Given the description of an element on the screen output the (x, y) to click on. 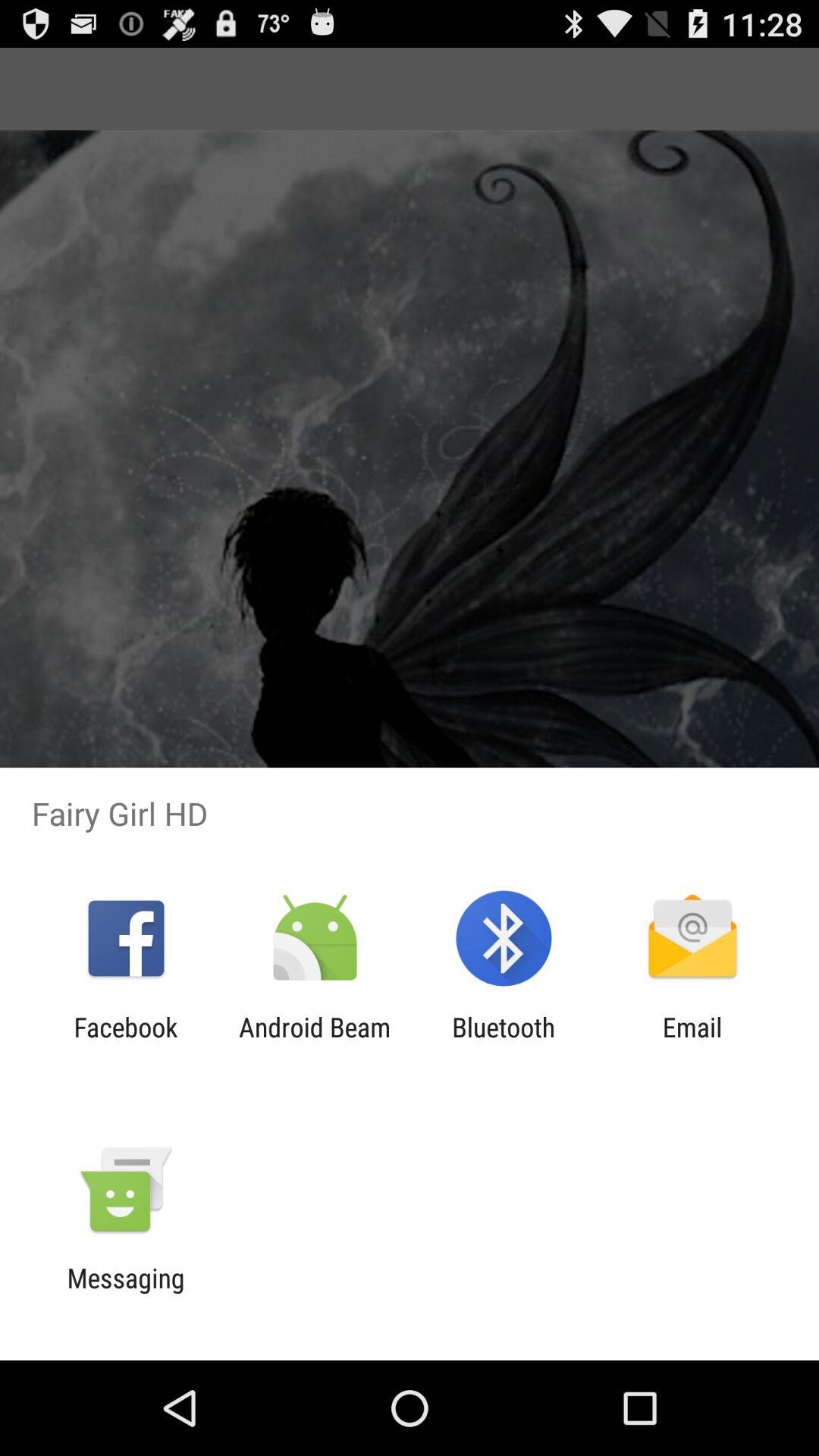
turn off app to the left of the bluetooth icon (314, 1042)
